Given the description of an element on the screen output the (x, y) to click on. 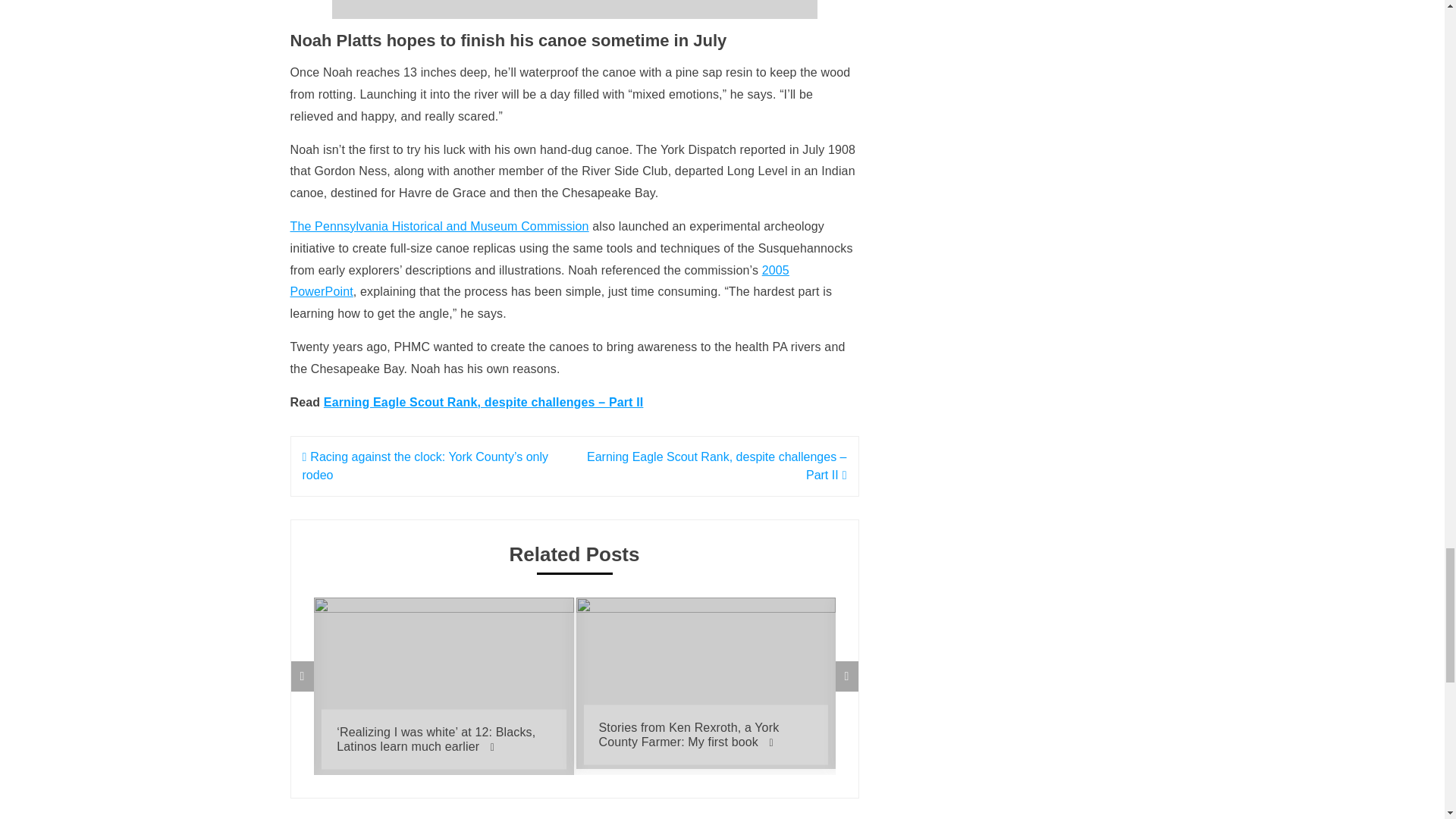
2005 PowerPoint (539, 280)
The Pennsylvania Historical and Museum Commission (438, 226)
